Given the description of an element on the screen output the (x, y) to click on. 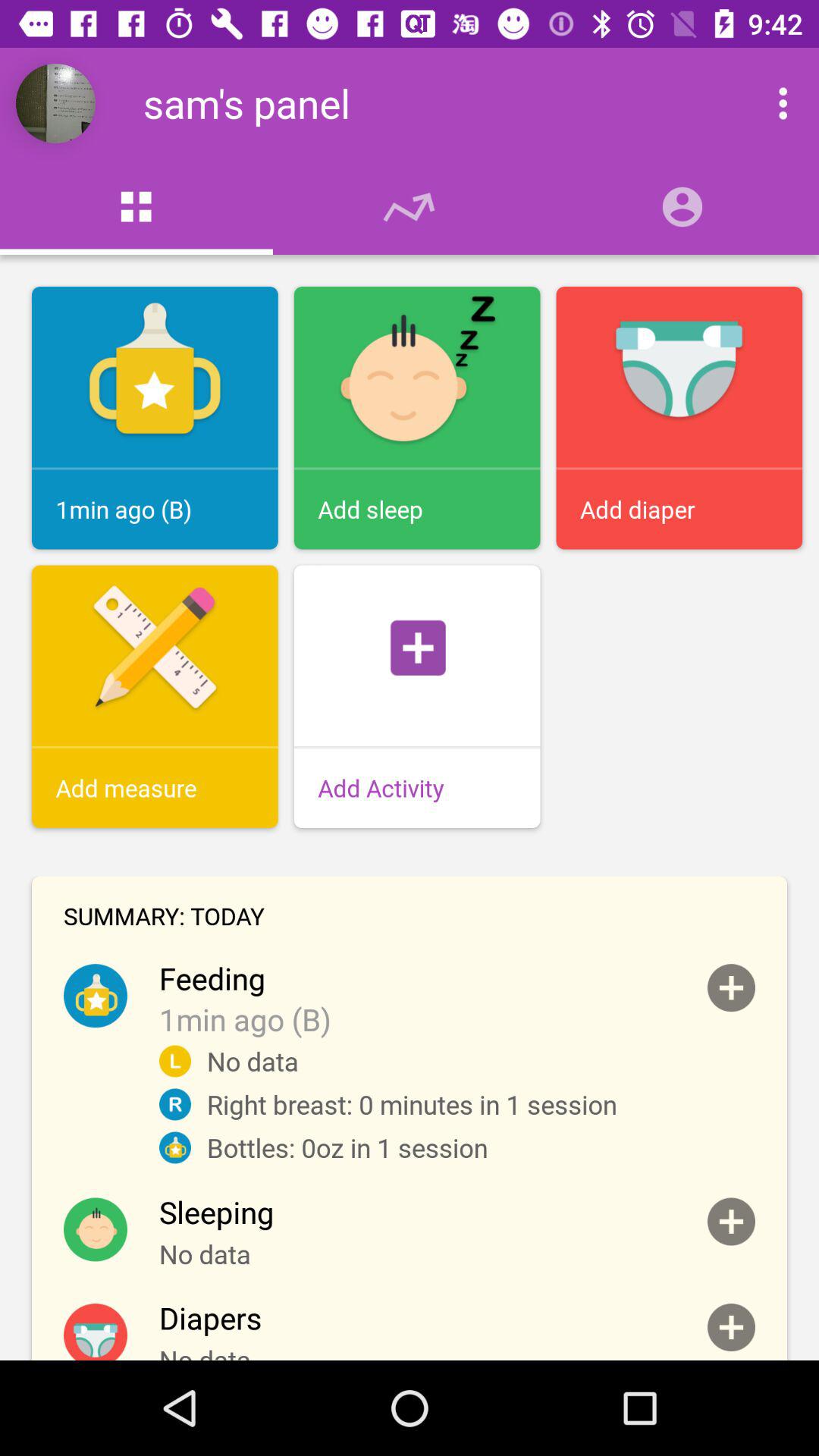
add feeding (731, 987)
